Given the description of an element on the screen output the (x, y) to click on. 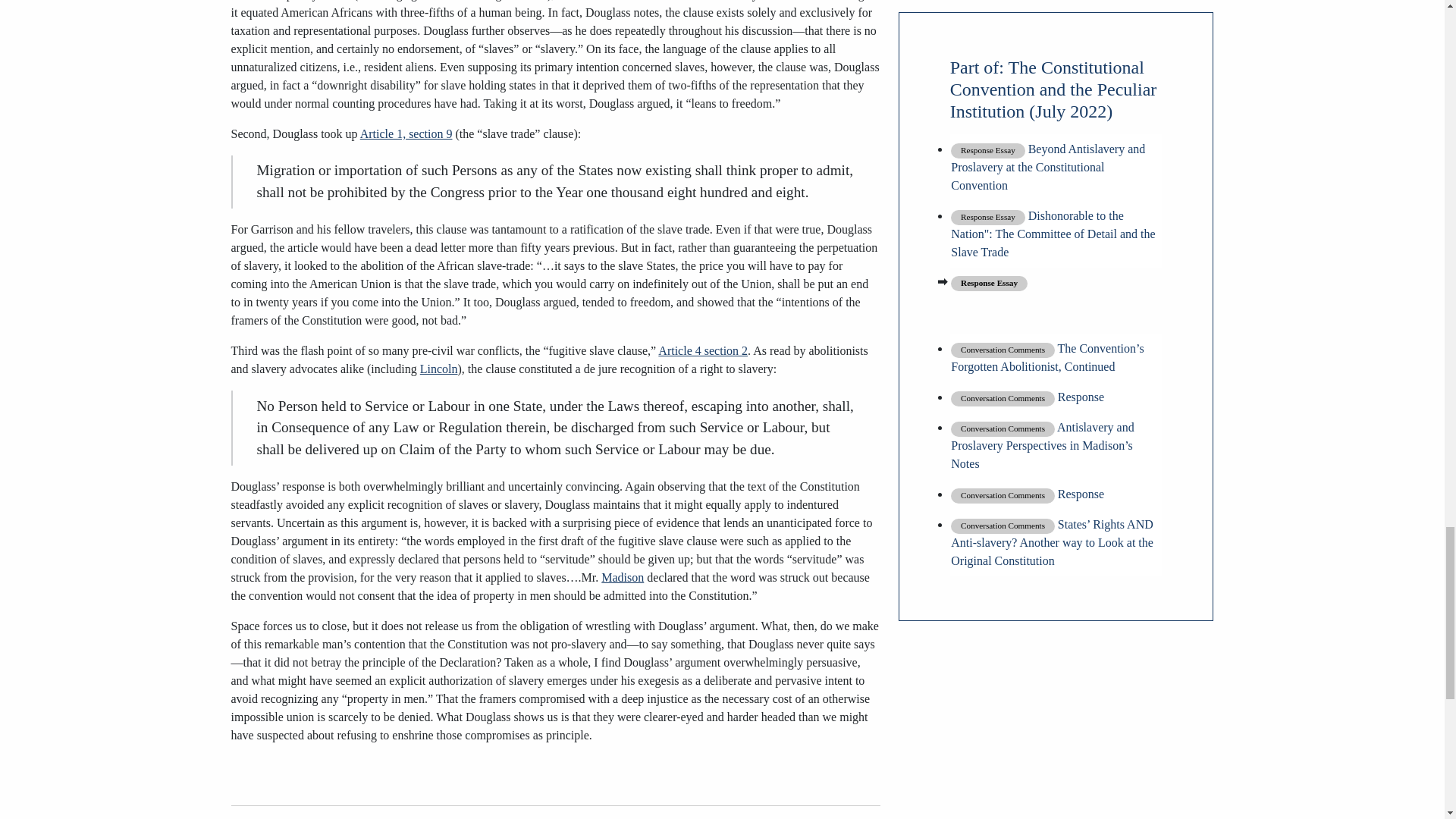
Article 4 section 2 (703, 350)
Article 1, section 9 (405, 133)
